Given the description of an element on the screen output the (x, y) to click on. 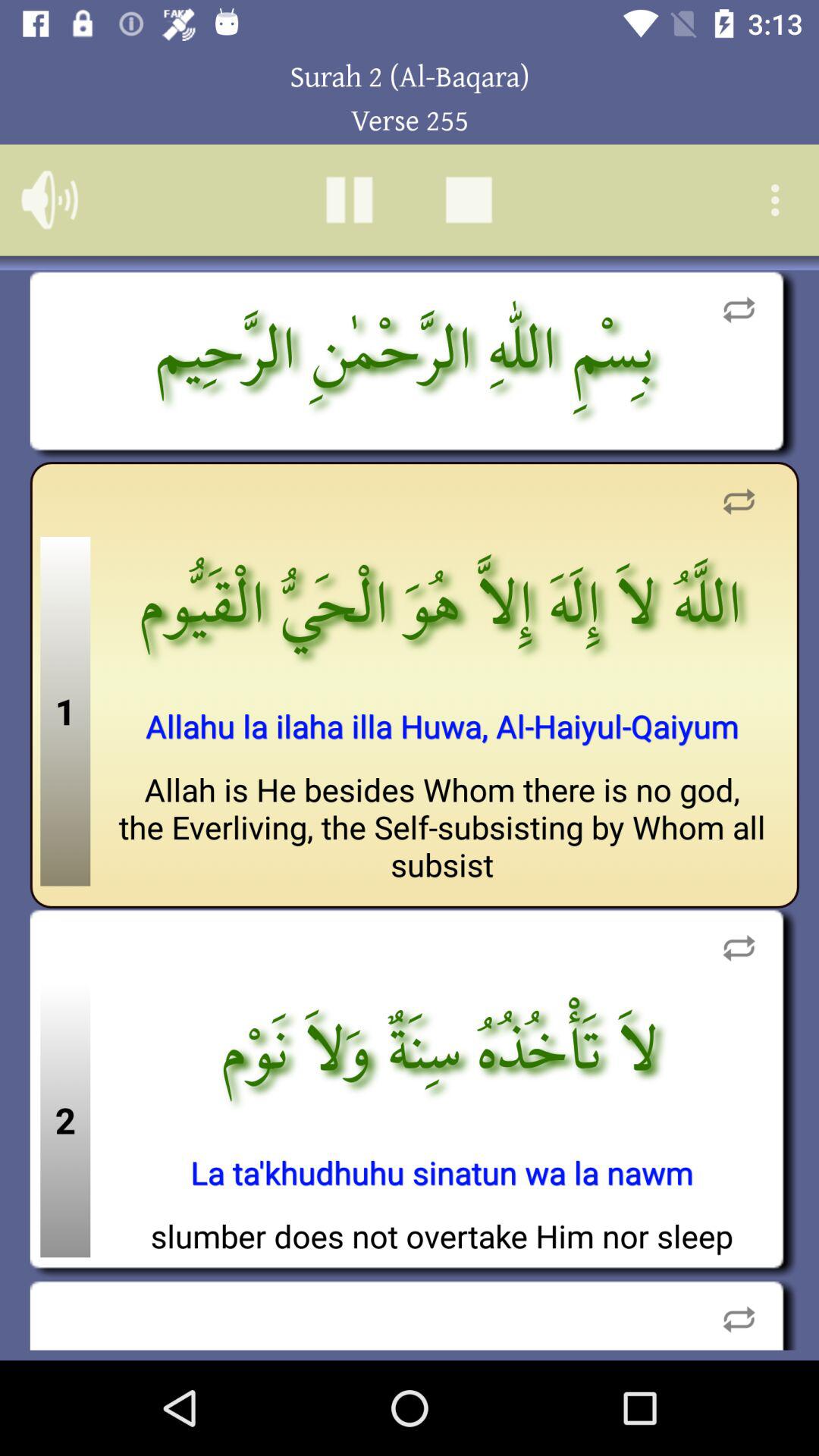
click item below surah 2 al icon (779, 199)
